Given the description of an element on the screen output the (x, y) to click on. 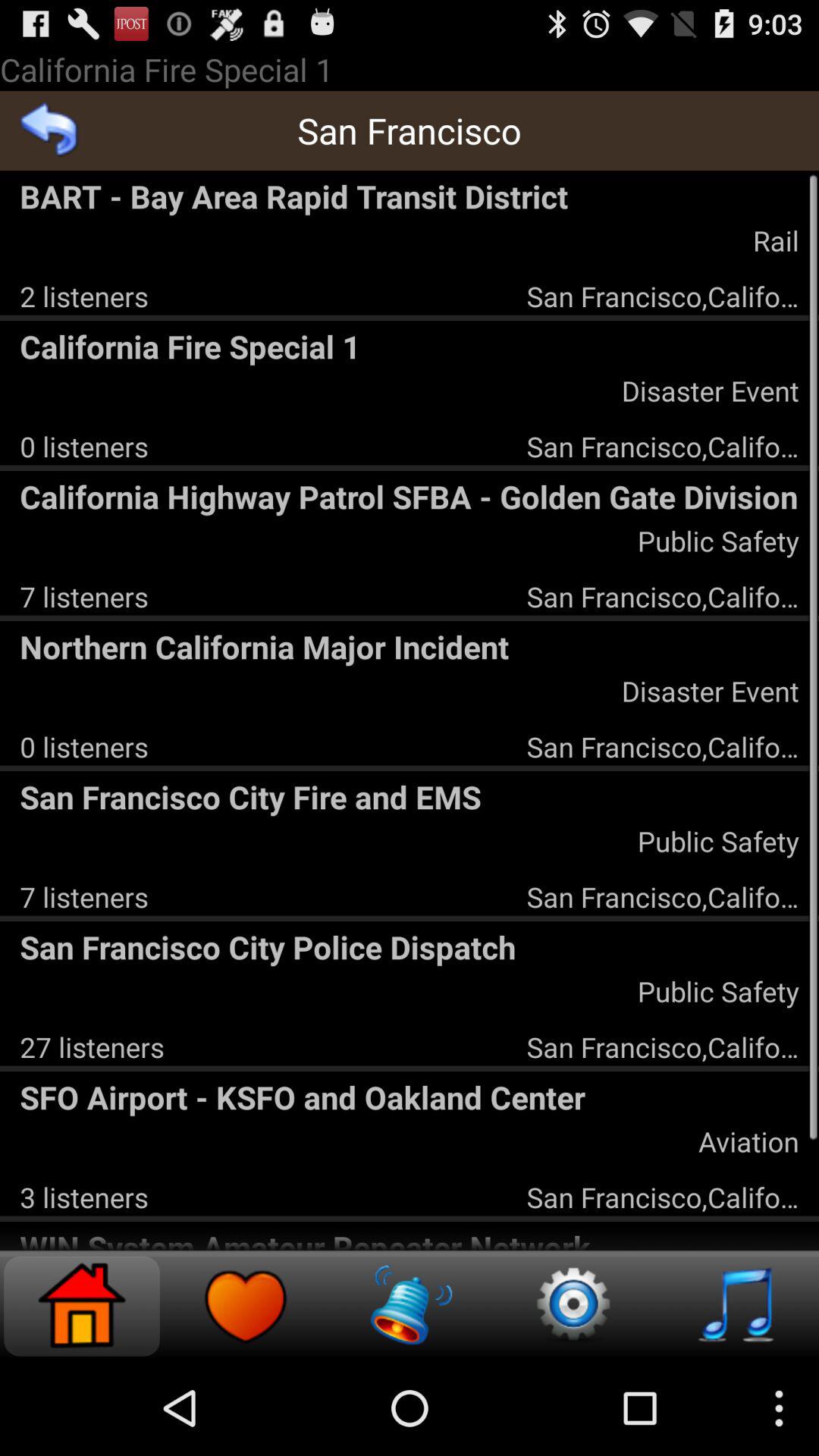
open the california highway patrol app (409, 496)
